Given the description of an element on the screen output the (x, y) to click on. 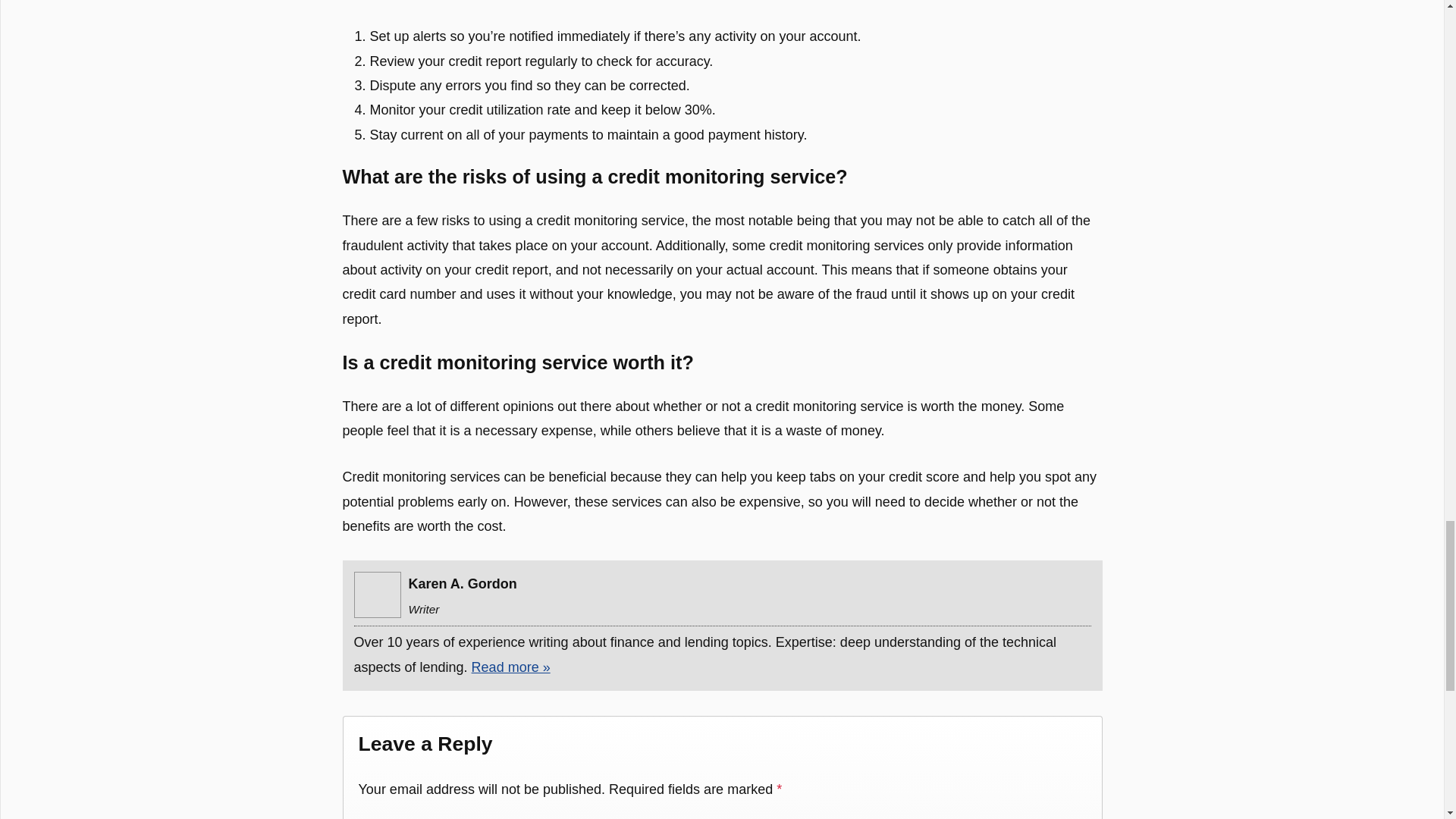
Karen A. Gordon (376, 594)
